Given the description of an element on the screen output the (x, y) to click on. 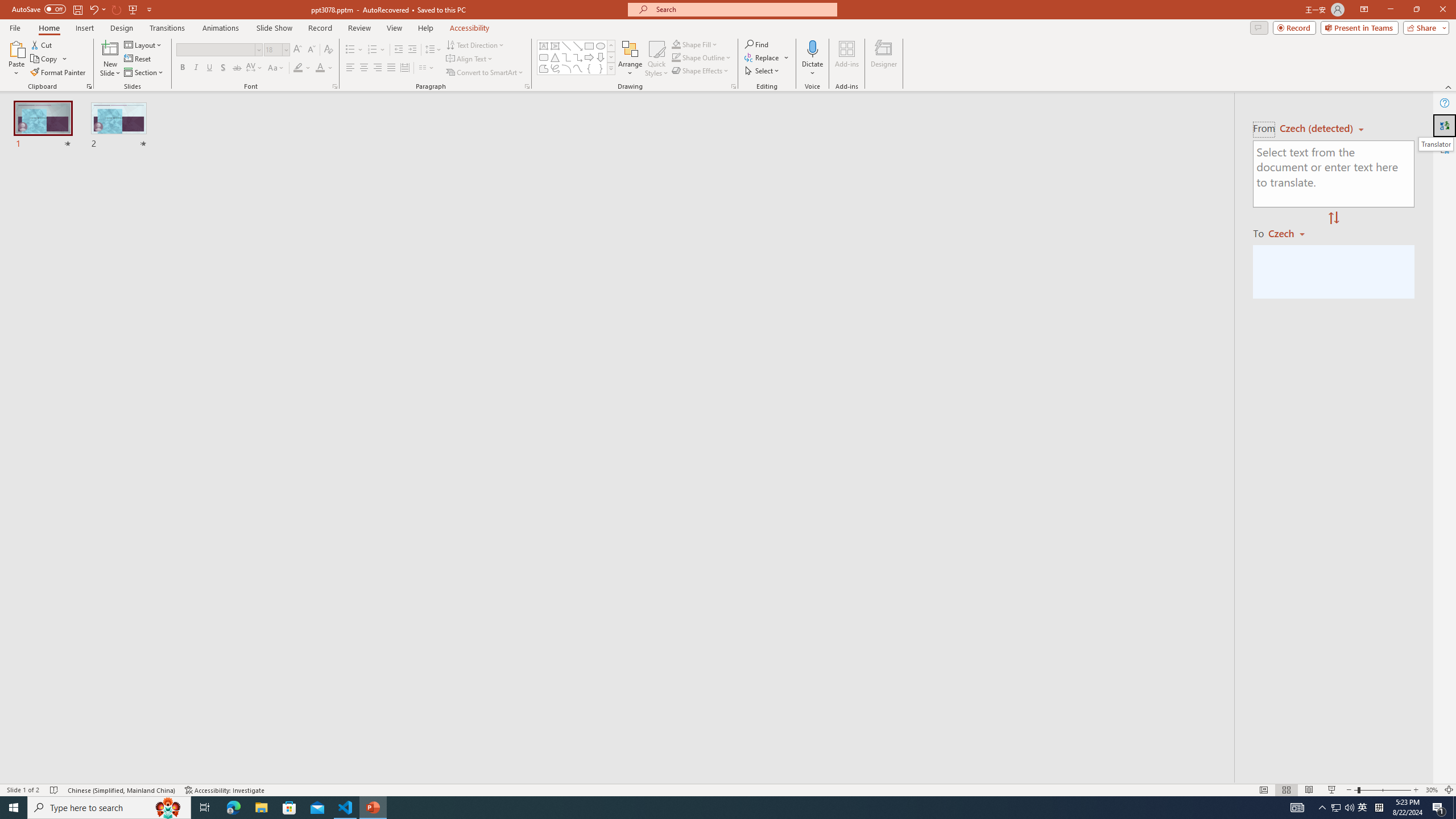
Copy (49, 58)
Underline (209, 67)
Clear Formatting (327, 49)
Align Left (349, 67)
Open (285, 49)
Character Spacing (254, 67)
Microsoft search (742, 9)
Dictate (812, 48)
Center (363, 67)
Row up (611, 45)
Accessibility (1444, 147)
Replace... (762, 56)
Zoom 30% (1431, 790)
